Given the description of an element on the screen output the (x, y) to click on. 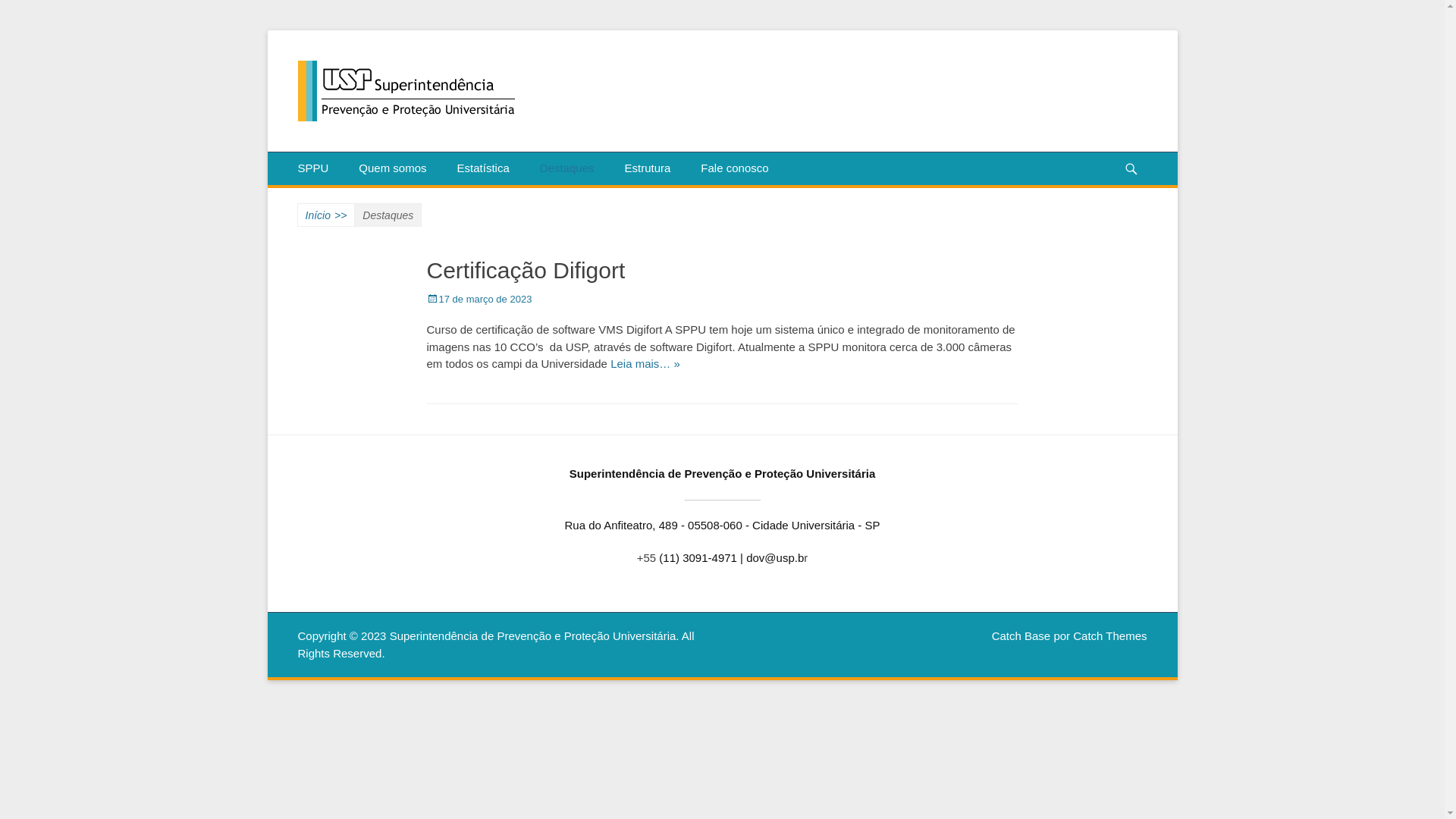
Catch Themes Element type: text (1109, 635)
Estrutura Element type: text (646, 168)
Fale conosco Element type: text (734, 168)
SPPU Element type: text (312, 168)
Quem somos Element type: text (392, 168)
Destaques Element type: text (566, 168)
Pesquisar Element type: text (1137, 151)
